Given the description of an element on the screen output the (x, y) to click on. 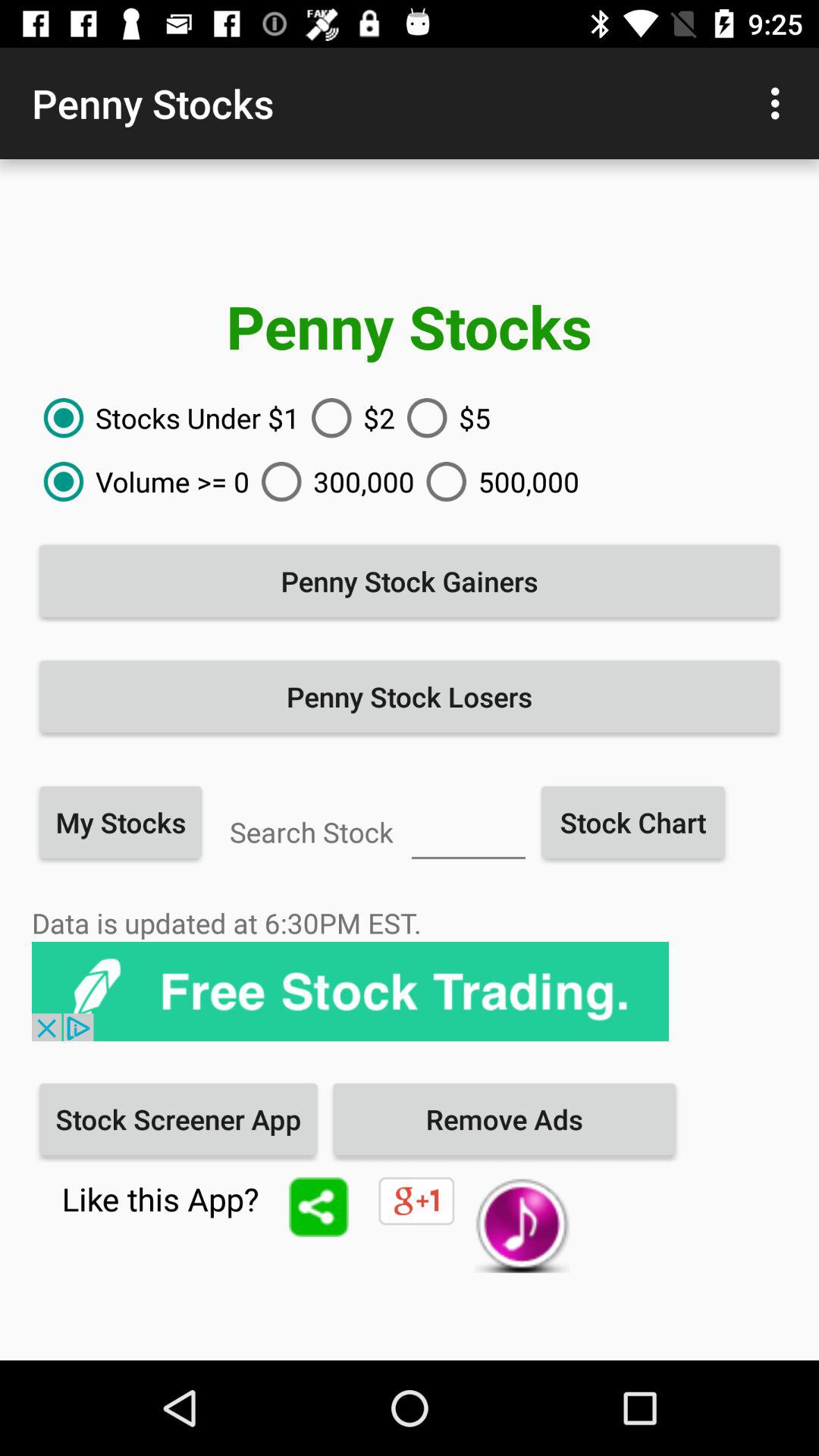
open icon below the remove ads (521, 1224)
